Given the description of an element on the screen output the (x, y) to click on. 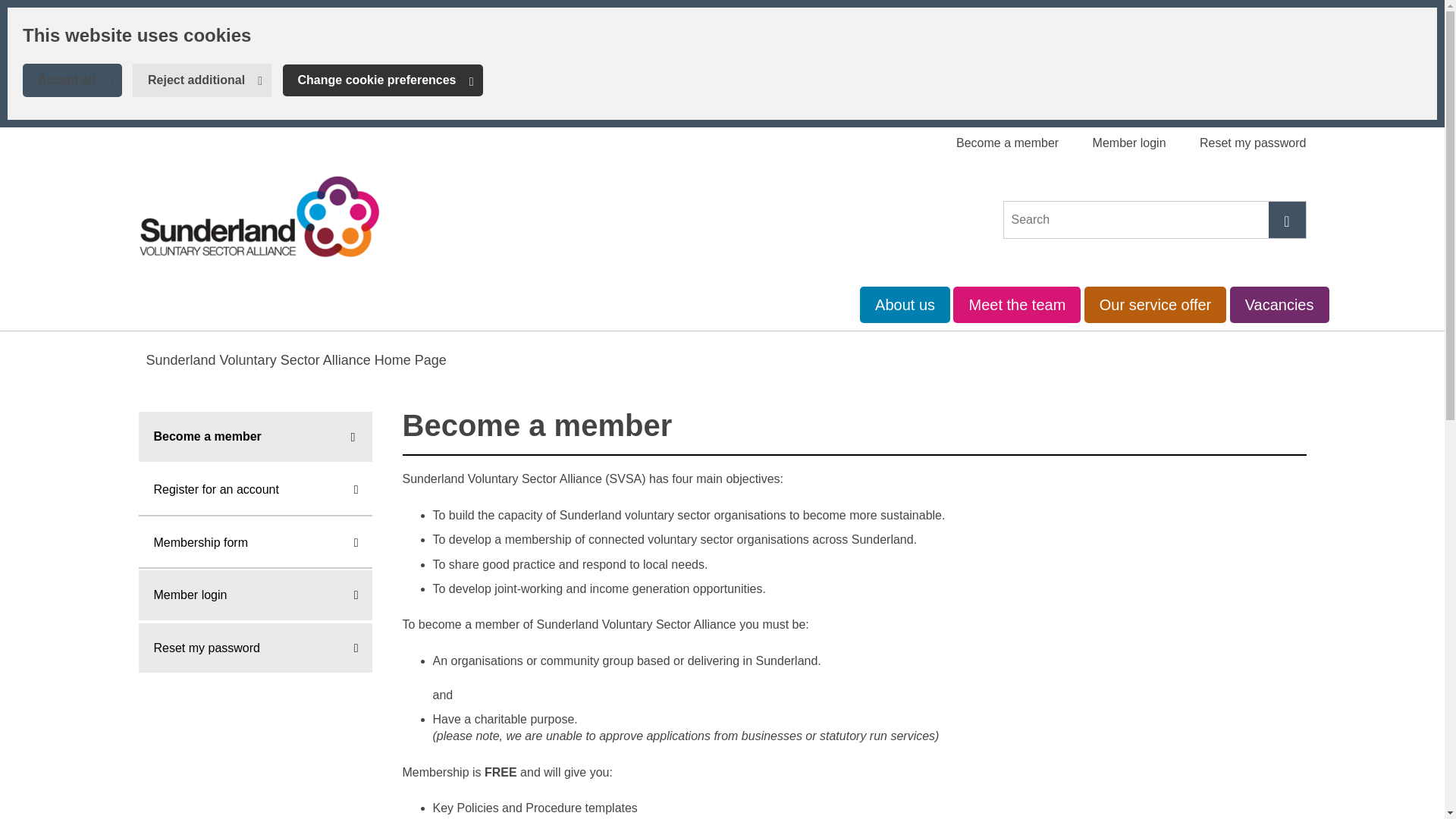
Member login (1129, 143)
Meet the team (1016, 304)
Search this website (1287, 219)
Register for an account (254, 490)
Sunderland Voluntary Sector Alliance Home Page (295, 359)
Change cookie preferences (382, 80)
Vacancies (1279, 304)
About us (905, 304)
Skip to main content (11, 11)
Reset my password (1252, 143)
